Given the description of an element on the screen output the (x, y) to click on. 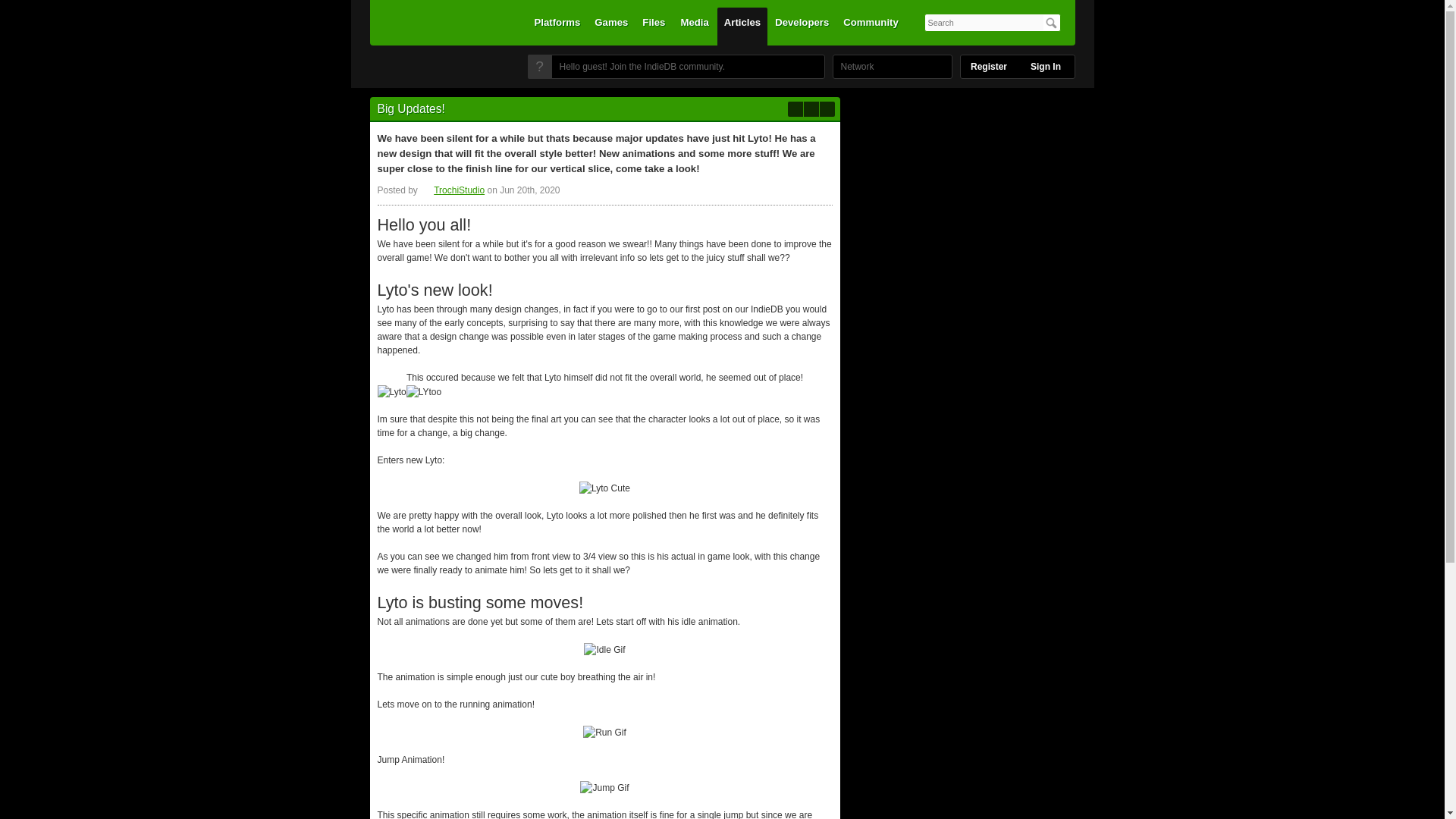
Files (652, 26)
Join IndieDB (539, 66)
Platforms (557, 26)
Media (694, 26)
DBolical (852, 66)
Articles (742, 26)
Article Manager (452, 190)
Developers (801, 26)
RSS (826, 109)
Search (1050, 22)
